Given the description of an element on the screen output the (x, y) to click on. 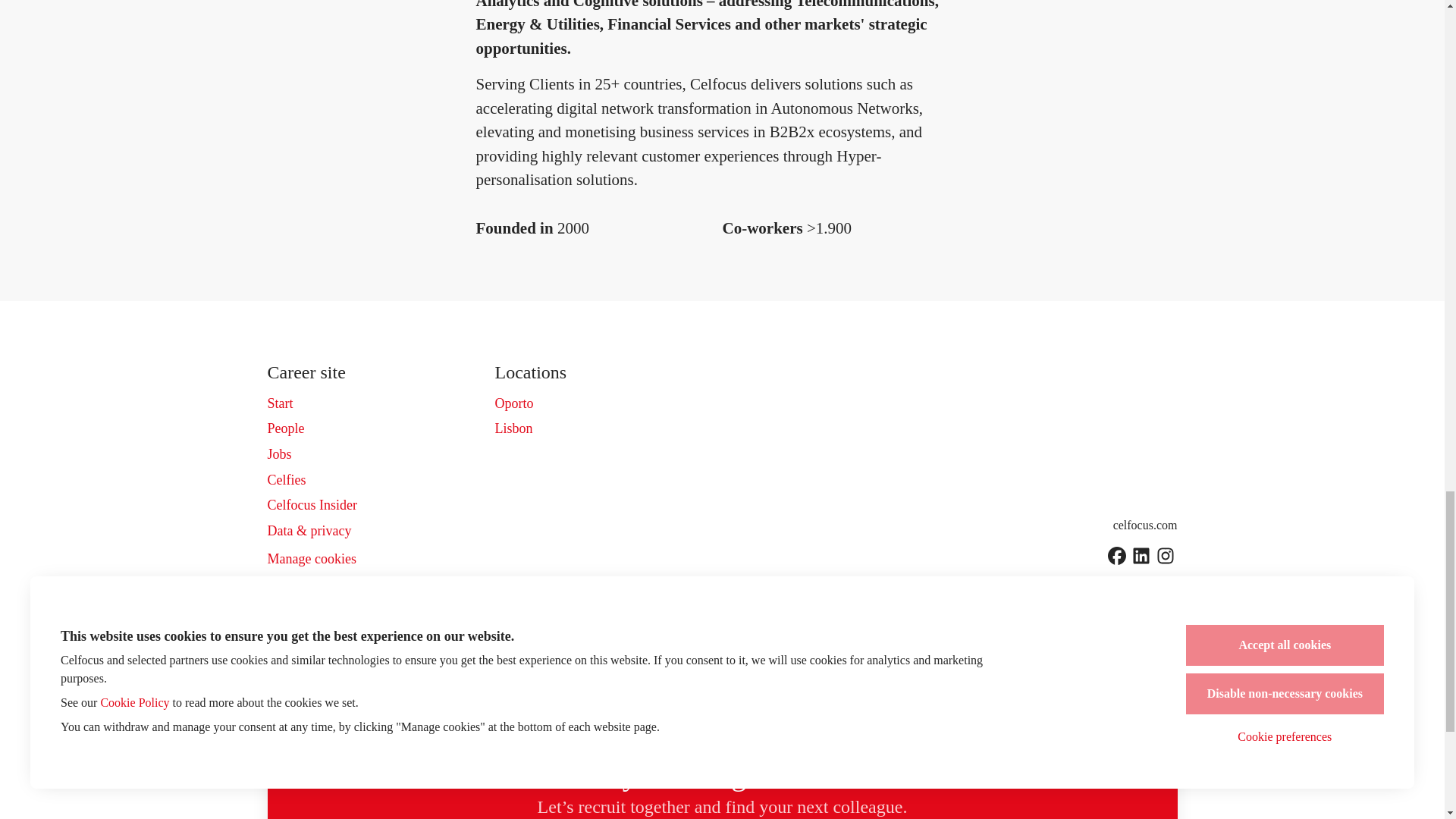
People (285, 427)
Oporto (513, 403)
Lisbon (513, 427)
Manage cookies (310, 558)
celfocus.com (1145, 525)
facebook (1115, 556)
Celfocus Insider (311, 504)
linkedin (1140, 556)
Jobs (278, 454)
Celfies (285, 479)
